Given the description of an element on the screen output the (x, y) to click on. 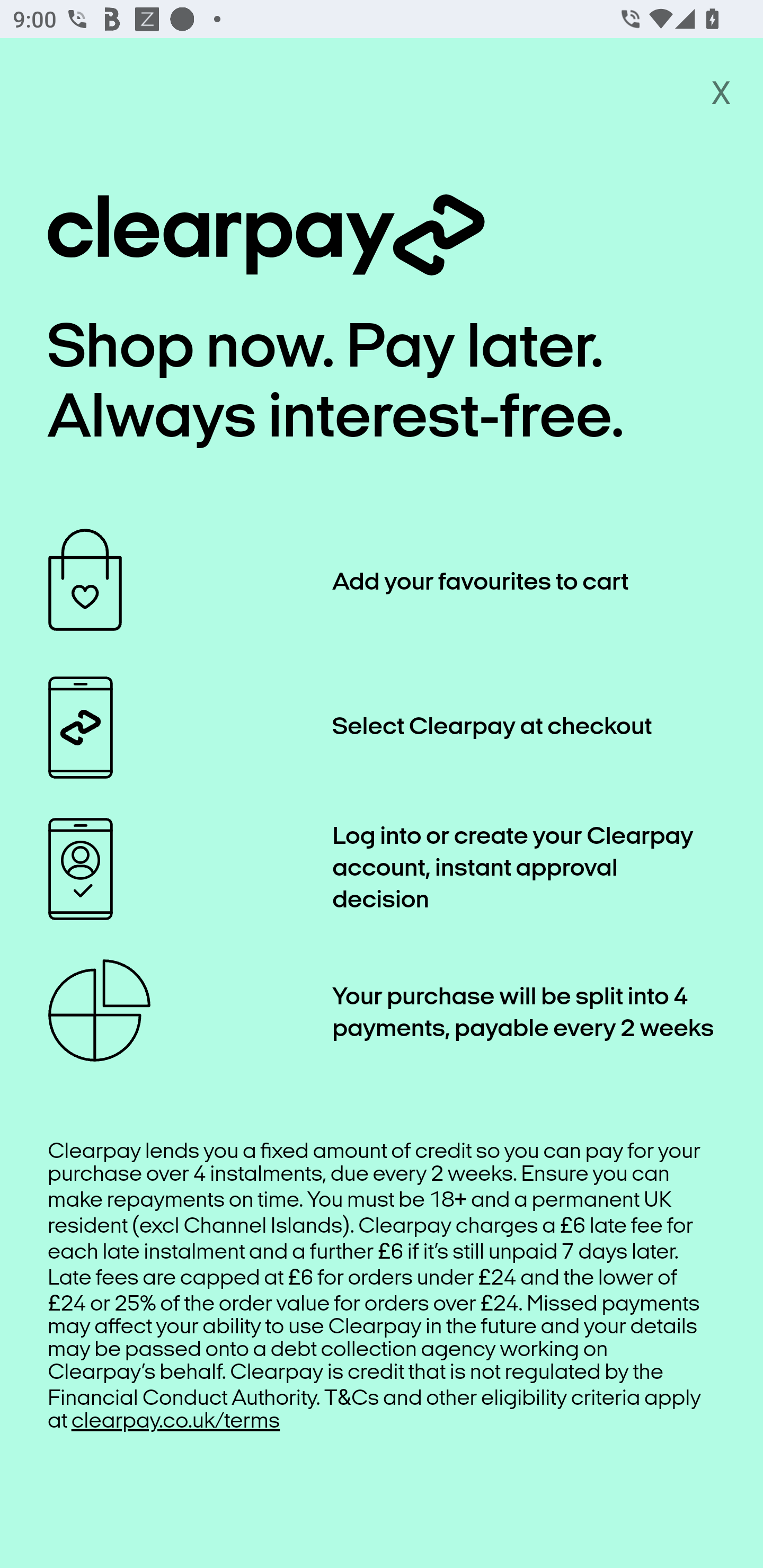
X (721, 90)
Clearpay Terms (New Window) clearpay.co.uk/terms (175, 1421)
